Given the description of an element on the screen output the (x, y) to click on. 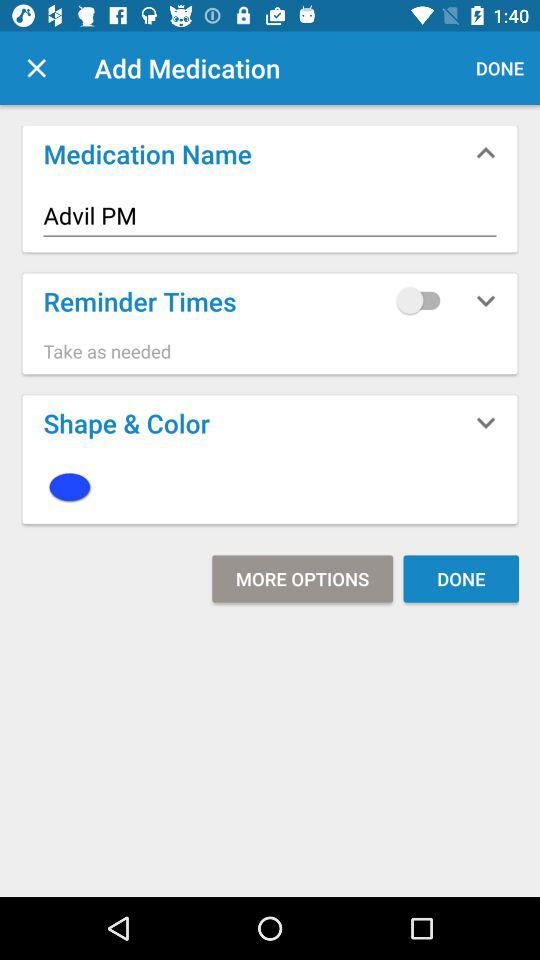
close the tab (36, 68)
